Given the description of an element on the screen output the (x, y) to click on. 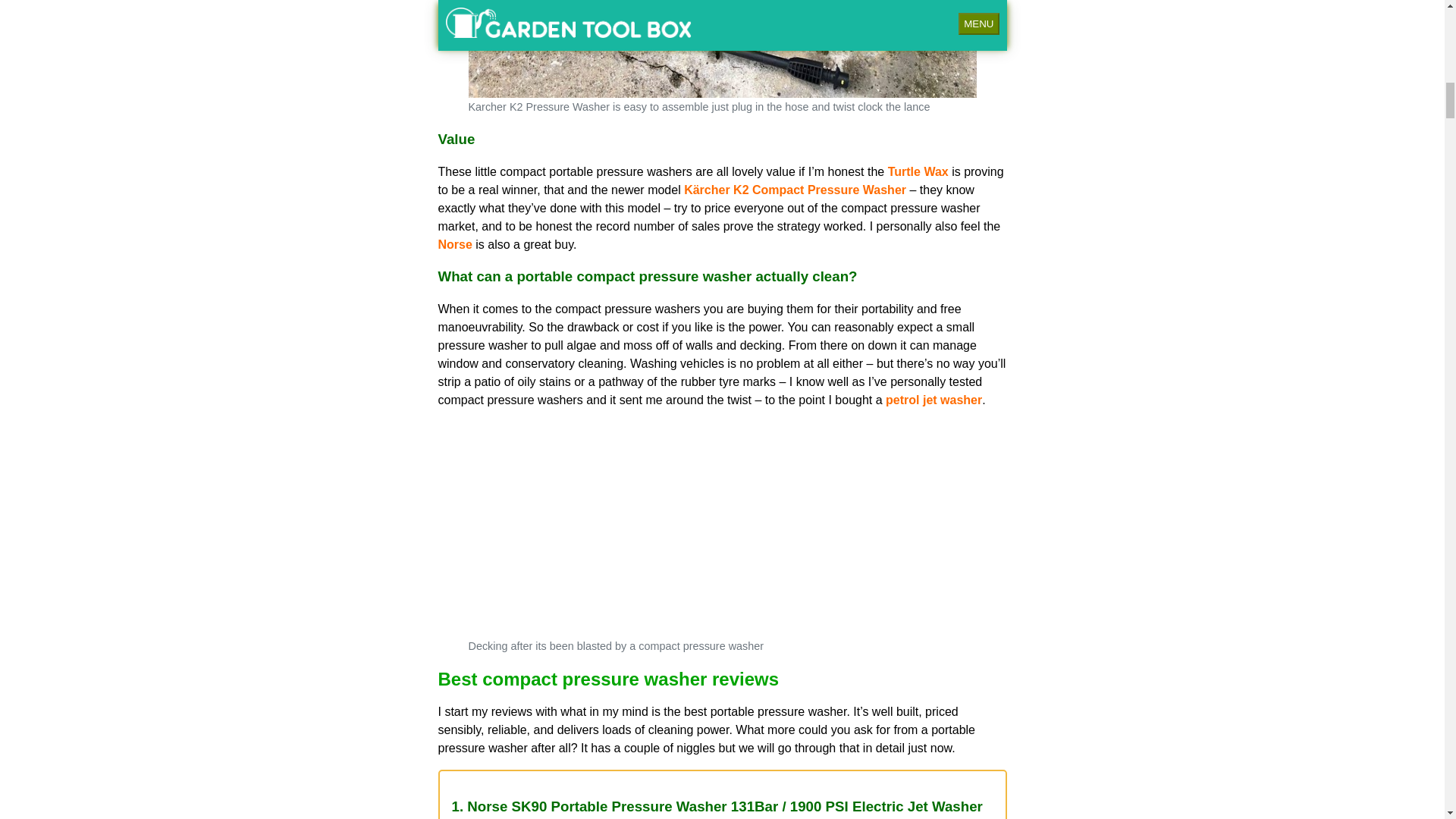
Turtle Wax (918, 171)
petrol jet washer (933, 399)
Norse (454, 244)
